Given the description of an element on the screen output the (x, y) to click on. 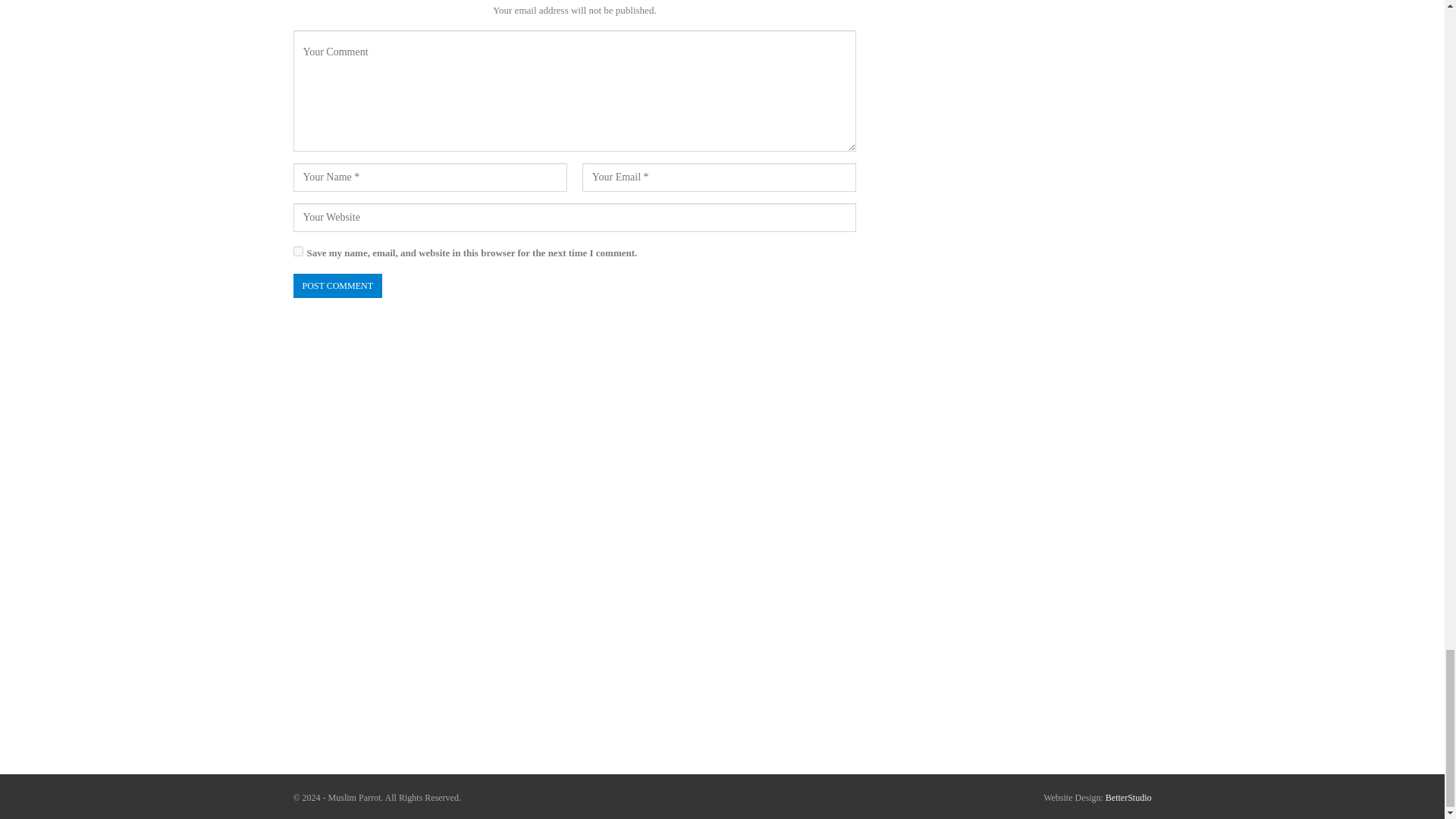
yes (297, 251)
Post Comment (336, 285)
